Given the description of an element on the screen output the (x, y) to click on. 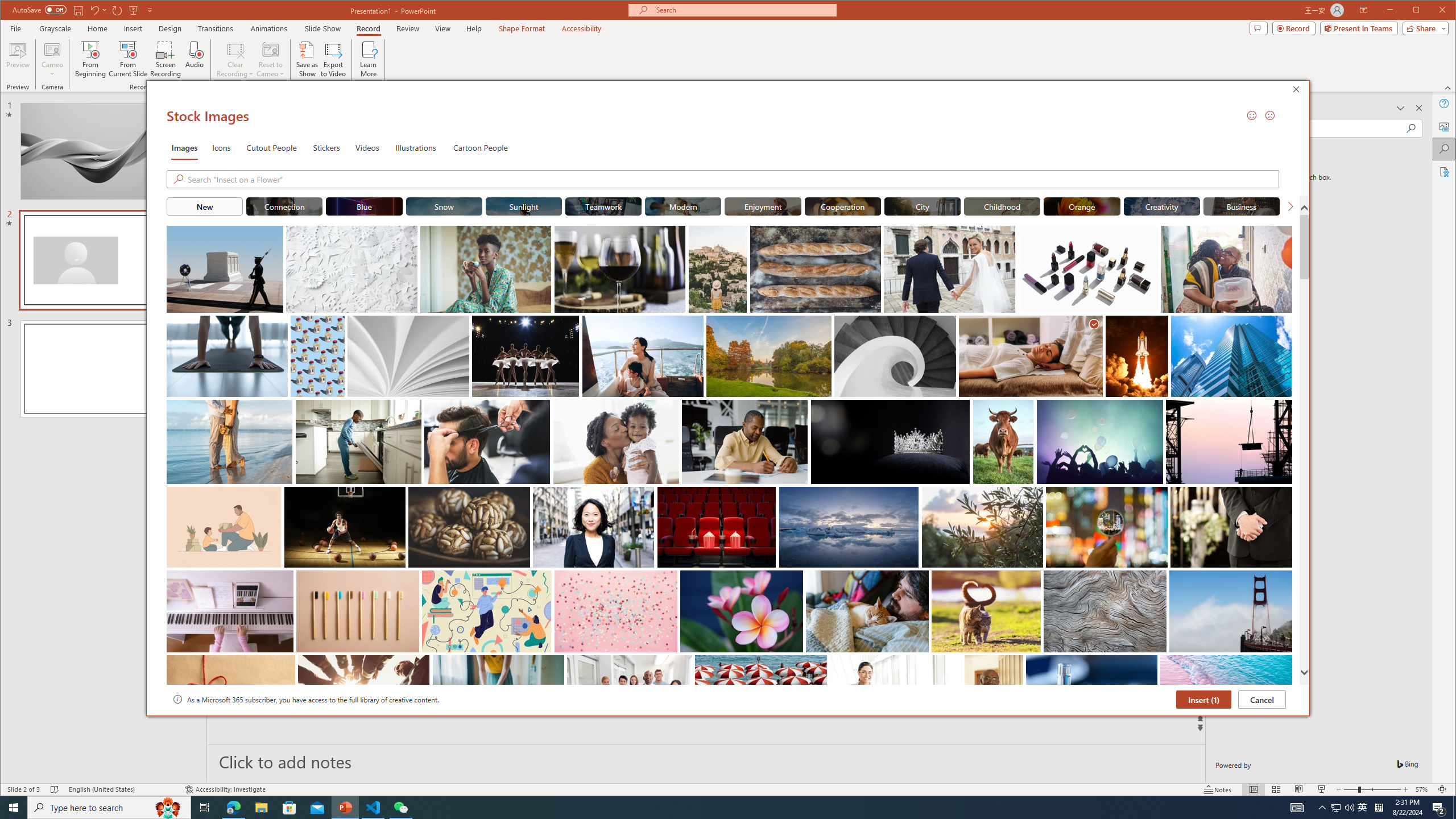
"Sunlight" Stock Images. (524, 206)
"Cooperation" Stock Images. (842, 206)
Stickers (326, 147)
Send a Smile (1251, 115)
